Given the description of an element on the screen output the (x, y) to click on. 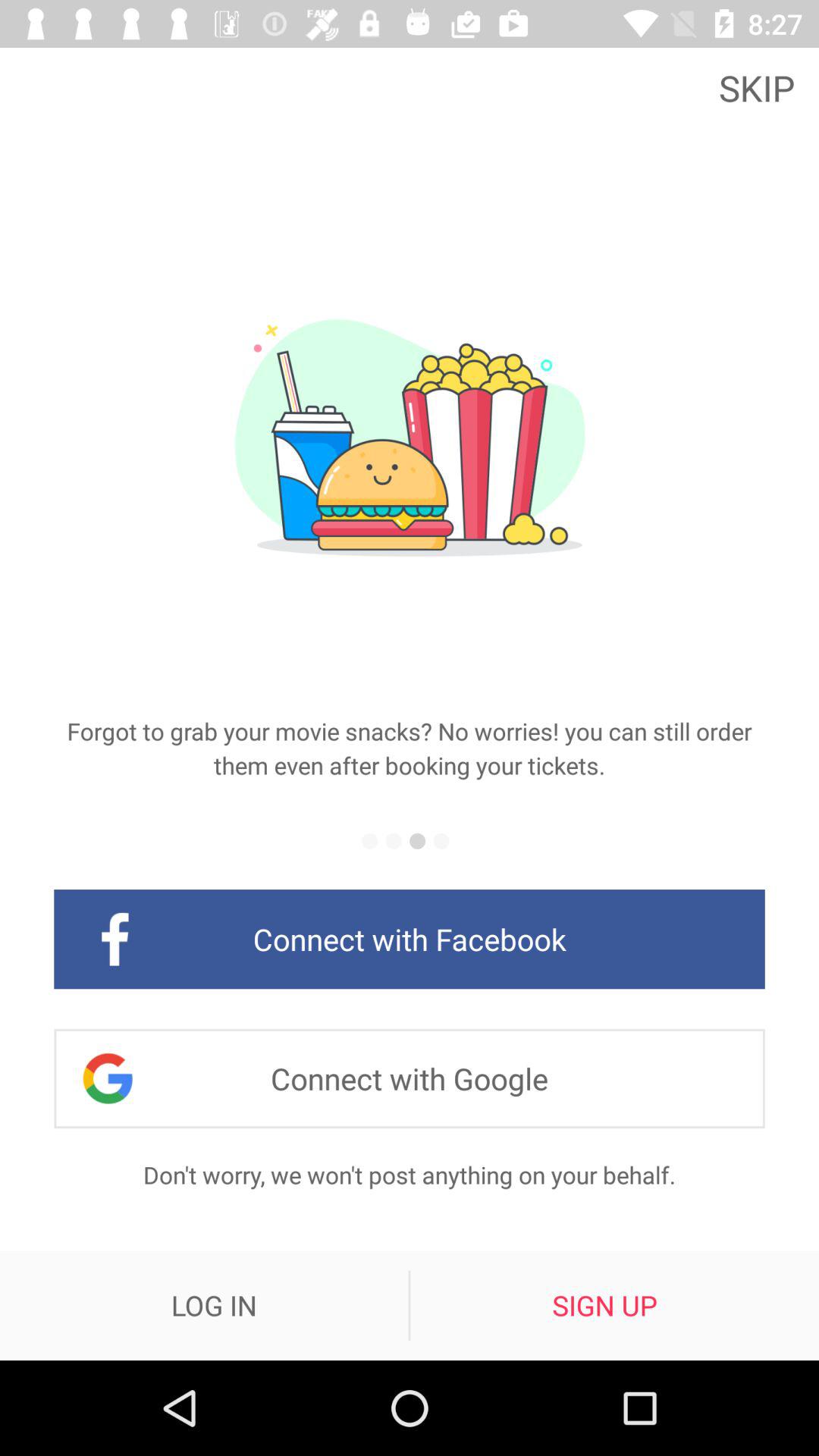
scroll to log in (213, 1305)
